Given the description of an element on the screen output the (x, y) to click on. 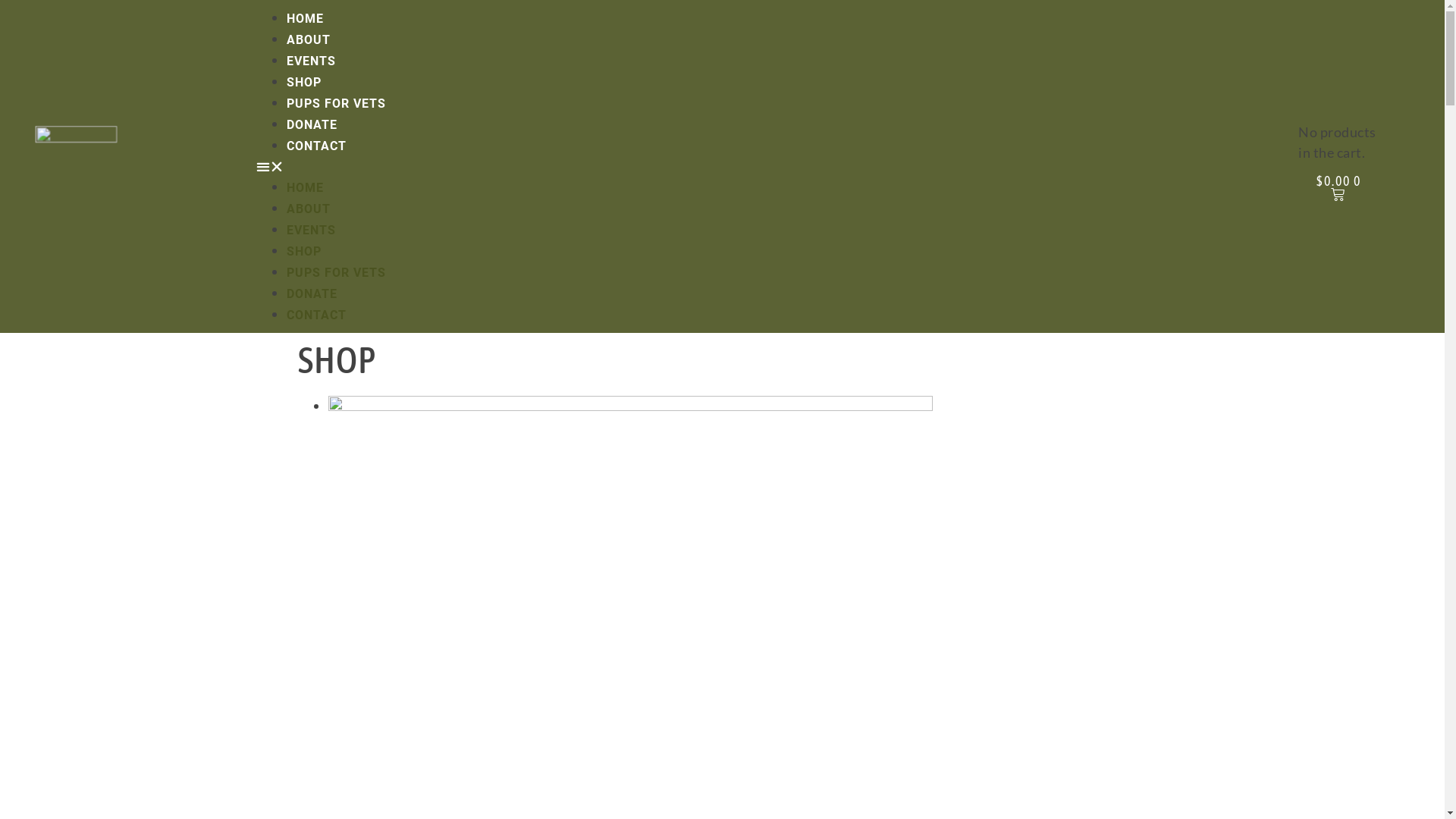
EVENTS Element type: text (310, 229)
SHOP Element type: text (303, 82)
$0.00 0 Element type: text (1338, 188)
DONATE Element type: text (311, 124)
HOME Element type: text (304, 18)
ABOUT Element type: text (308, 39)
CONTACT Element type: text (316, 145)
HOME Element type: text (304, 187)
PUPS FOR VETS Element type: text (335, 272)
SHOP Element type: text (303, 251)
EVENTS Element type: text (310, 60)
CONTACT Element type: text (316, 314)
PUPS FOR VETS Element type: text (335, 103)
ABOUT Element type: text (308, 208)
DONATE Element type: text (311, 293)
